Given the description of an element on the screen output the (x, y) to click on. 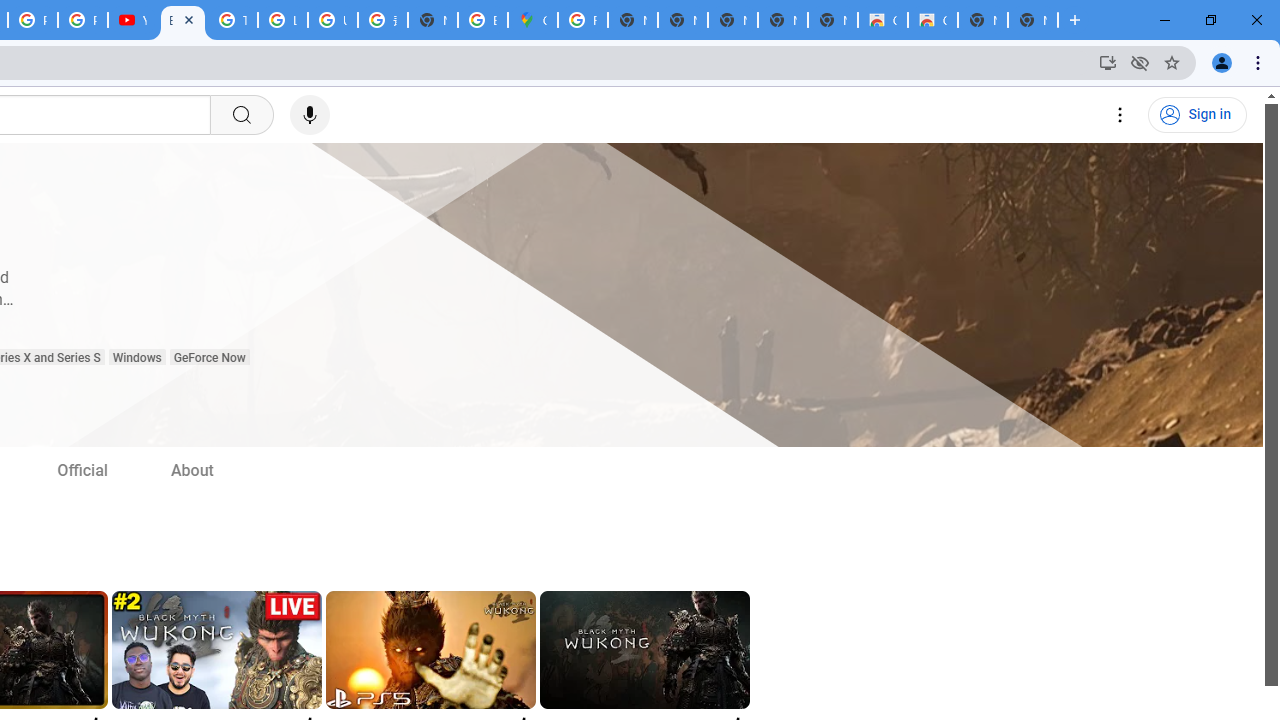
New Tab (433, 20)
Classic Blue - Chrome Web Store (932, 20)
Explore new street-level details - Google Maps Help (483, 20)
Black Myth: Wukong - Topic - YouTube (182, 20)
New Tab (1032, 20)
Privacy Checkup (82, 20)
Search with your voice (309, 115)
Google Maps (533, 20)
GeForce Now (208, 358)
YouTube (132, 20)
